Given the description of an element on the screen output the (x, y) to click on. 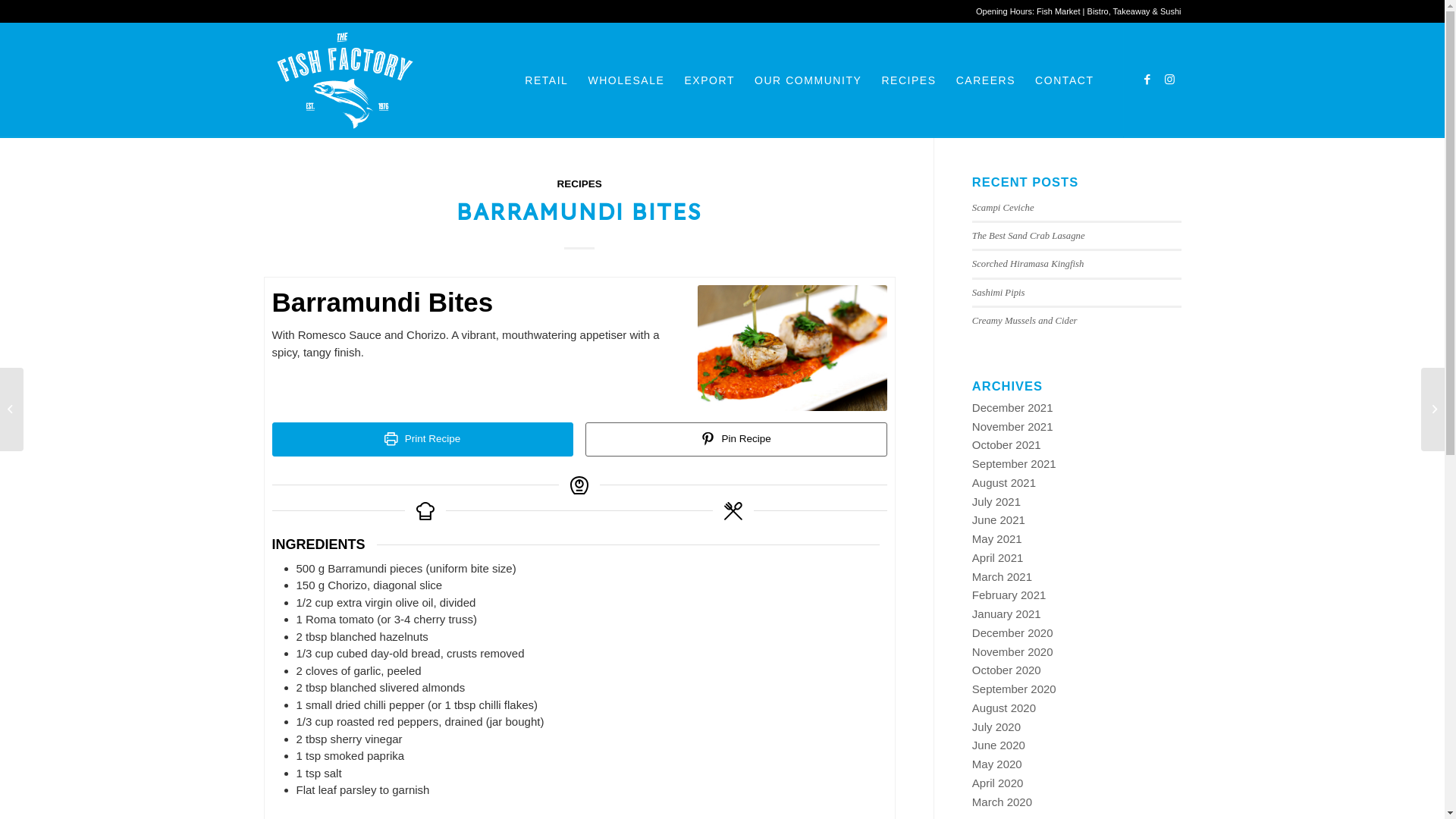
EXPORT Element type: text (709, 80)
May 2021 Element type: text (997, 538)
OUR COMMUNITY Element type: text (807, 80)
Instagram Element type: hover (1169, 79)
BARRAMUNDI BITES Element type: text (579, 208)
September 2020 Element type: text (1014, 688)
June 2021 Element type: text (998, 519)
Fish Market Element type: text (1057, 10)
CONTACT Element type: text (1064, 80)
RECIPES Element type: text (908, 80)
CAREERS Element type: text (985, 80)
November 2021 Element type: text (1012, 426)
May 2020 Element type: text (997, 763)
December 2020 Element type: text (1012, 632)
Creamy Mussels and Cider Element type: text (1024, 320)
RETAIL Element type: text (545, 80)
WHOLESALE Element type: text (625, 80)
August 2021 Element type: text (1003, 482)
August 2020 Element type: text (1003, 707)
Takeaway Element type: text (1131, 10)
July 2020 Element type: text (996, 726)
June 2020 Element type: text (998, 744)
January 2021 Element type: text (1006, 613)
Sushi Element type: text (1170, 10)
Print Recipe Element type: text (422, 439)
December 2021 Element type: text (1012, 407)
April 2020 Element type: text (997, 782)
Facebook Element type: hover (1146, 79)
Scorched Hiramasa Kingfish Element type: text (1028, 263)
Bistro Element type: text (1097, 10)
July 2021 Element type: text (996, 501)
April 2021 Element type: text (997, 557)
October 2020 Element type: text (1006, 669)
Sashimi Pipis Element type: text (998, 292)
The Best Sand Crab Lasagne Element type: text (1028, 235)
October 2021 Element type: text (1006, 444)
Pin Recipe Element type: text (736, 439)
RECIPES Element type: text (578, 183)
Scampi Ceviche Element type: text (1003, 207)
March 2020 Element type: text (1002, 801)
November 2020 Element type: text (1012, 651)
September 2021 Element type: text (1014, 463)
February 2021 Element type: text (1009, 594)
March 2021 Element type: text (1002, 576)
